Given the description of an element on the screen output the (x, y) to click on. 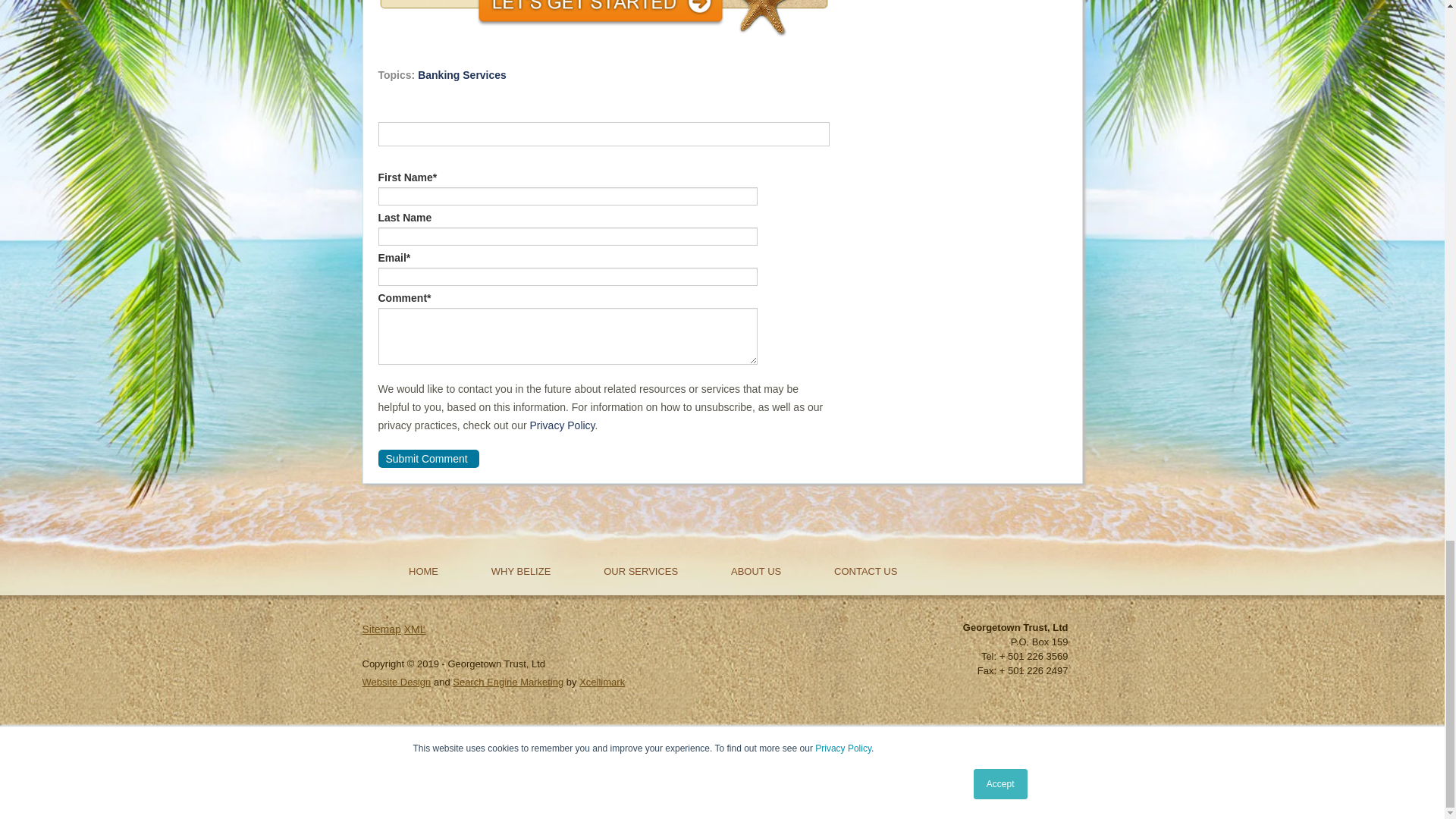
Privacy Policy (561, 425)
Submit Comment (428, 458)
Submit Comment (428, 458)
Banking Services (461, 74)
